Given the description of an element on the screen output the (x, y) to click on. 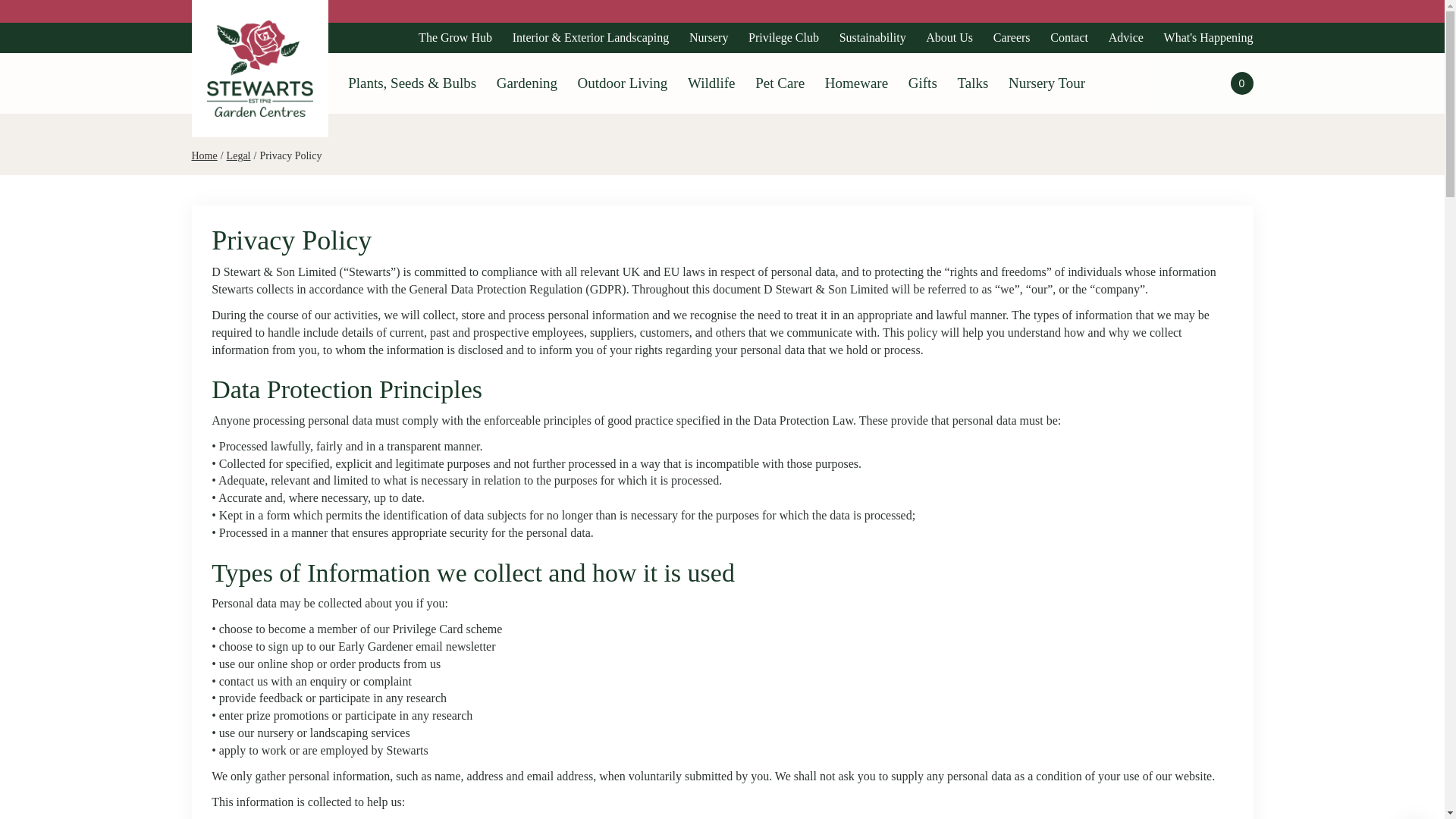
Search (1237, 84)
src (1130, 83)
Legal (238, 155)
Home (203, 155)
Privacy Policy (290, 155)
